Given the description of an element on the screen output the (x, y) to click on. 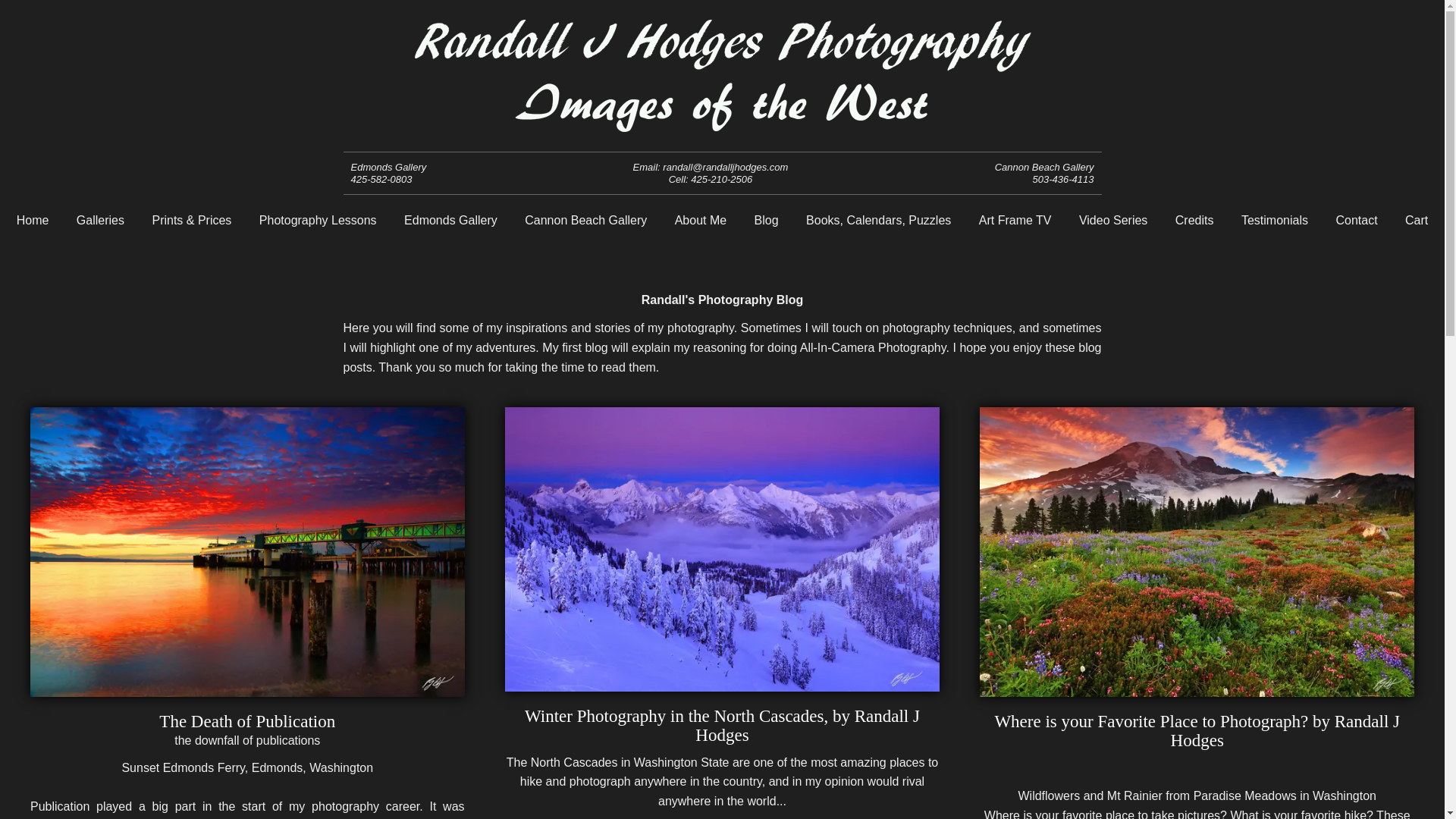
Edmonds Gallery (450, 219)
Books, Calendars, Puzzles (877, 219)
Randall J Hodges Photography (722, 125)
About Me (700, 219)
Photography Lessons (317, 219)
Galleries (100, 219)
Contact (1356, 219)
Blog (766, 219)
Cart (1416, 219)
Cannon Beach Gallery (585, 219)
The Death of Publication (246, 721)
Credits (1194, 219)
